Given the description of an element on the screen output the (x, y) to click on. 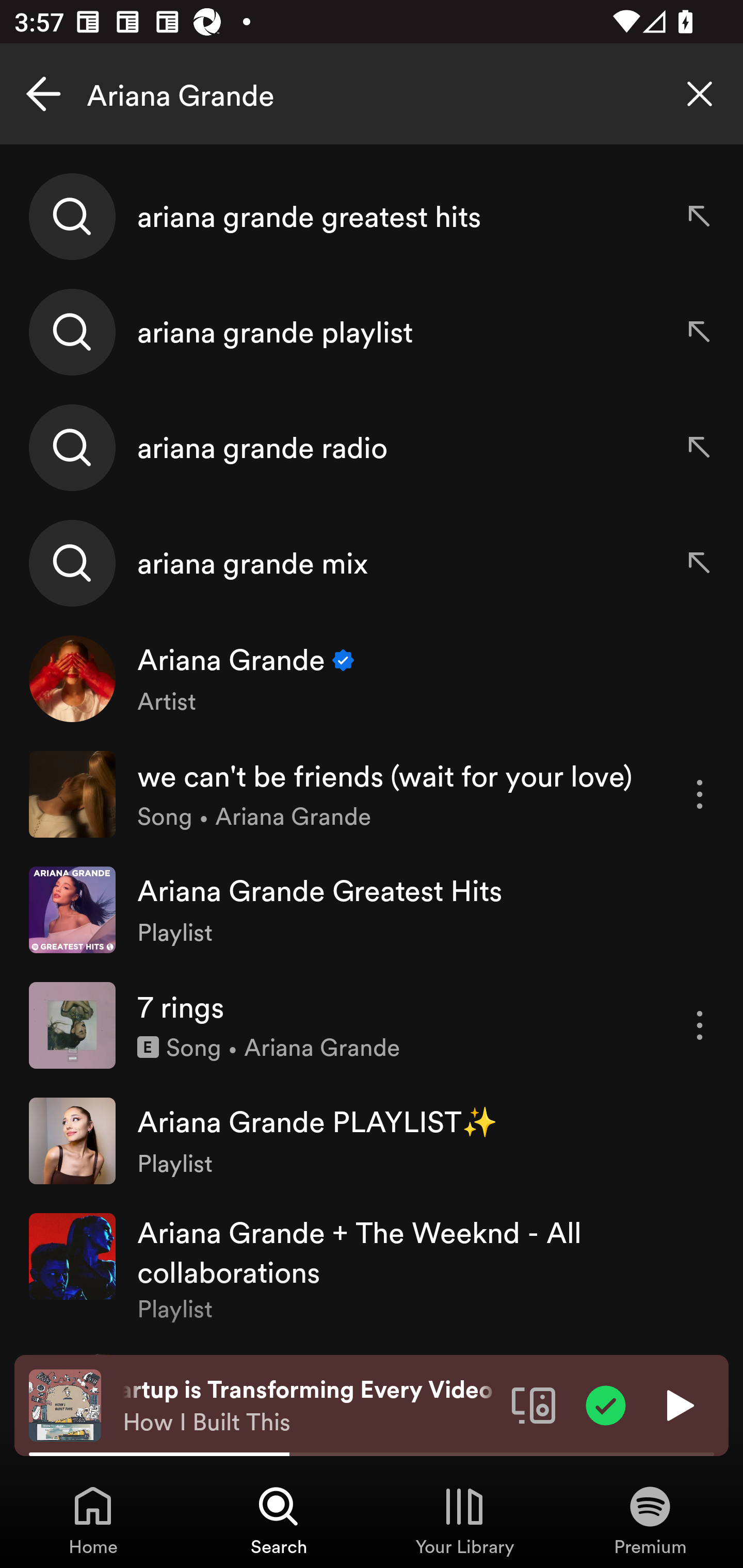
Ariana Grande (371, 93)
Cancel (43, 93)
Clear search query (699, 93)
ariana grande greatest hits (371, 216)
ariana grande playlist (371, 332)
ariana grande radio (371, 447)
ariana grande mix (371, 562)
Ariana Grande Verified Artist (371, 678)
Ariana Grande Greatest Hits Playlist (371, 909)
More options for song 7 rings (699, 1025)
Ariana Grande PLAYLIST✨ Playlist (371, 1140)
The cover art of the currently playing track (64, 1404)
Connect to a device. Opens the devices menu (533, 1404)
Item added (605, 1404)
Play (677, 1404)
Home, Tab 1 of 4 Home Home (92, 1519)
Search, Tab 2 of 4 Search Search (278, 1519)
Your Library, Tab 3 of 4 Your Library Your Library (464, 1519)
Premium, Tab 4 of 4 Premium Premium (650, 1519)
